Given the description of an element on the screen output the (x, y) to click on. 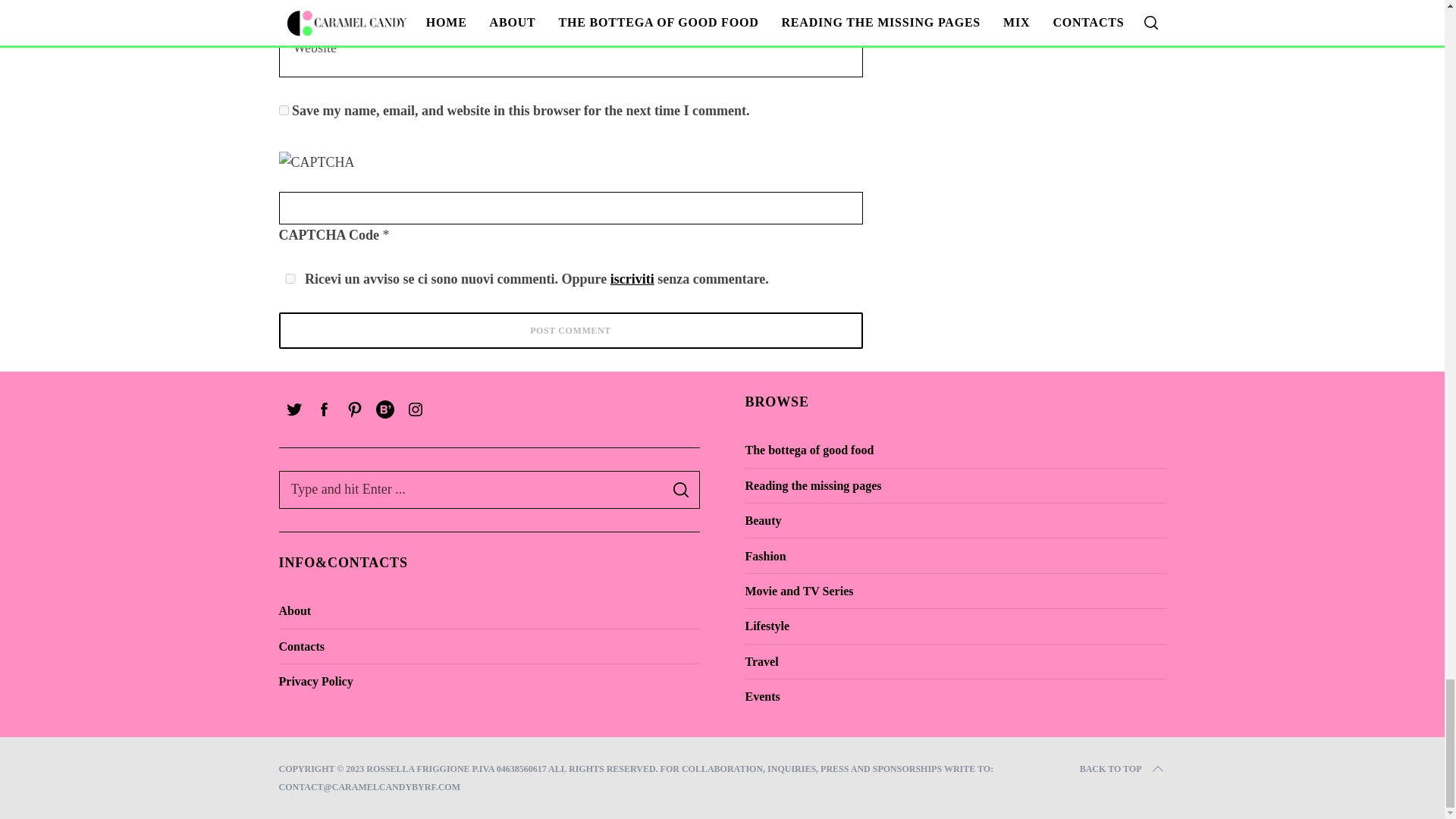
CAPTCHA (328, 167)
Post Comment (571, 330)
yes (283, 110)
Refresh (387, 161)
yes (290, 278)
